Given the description of an element on the screen output the (x, y) to click on. 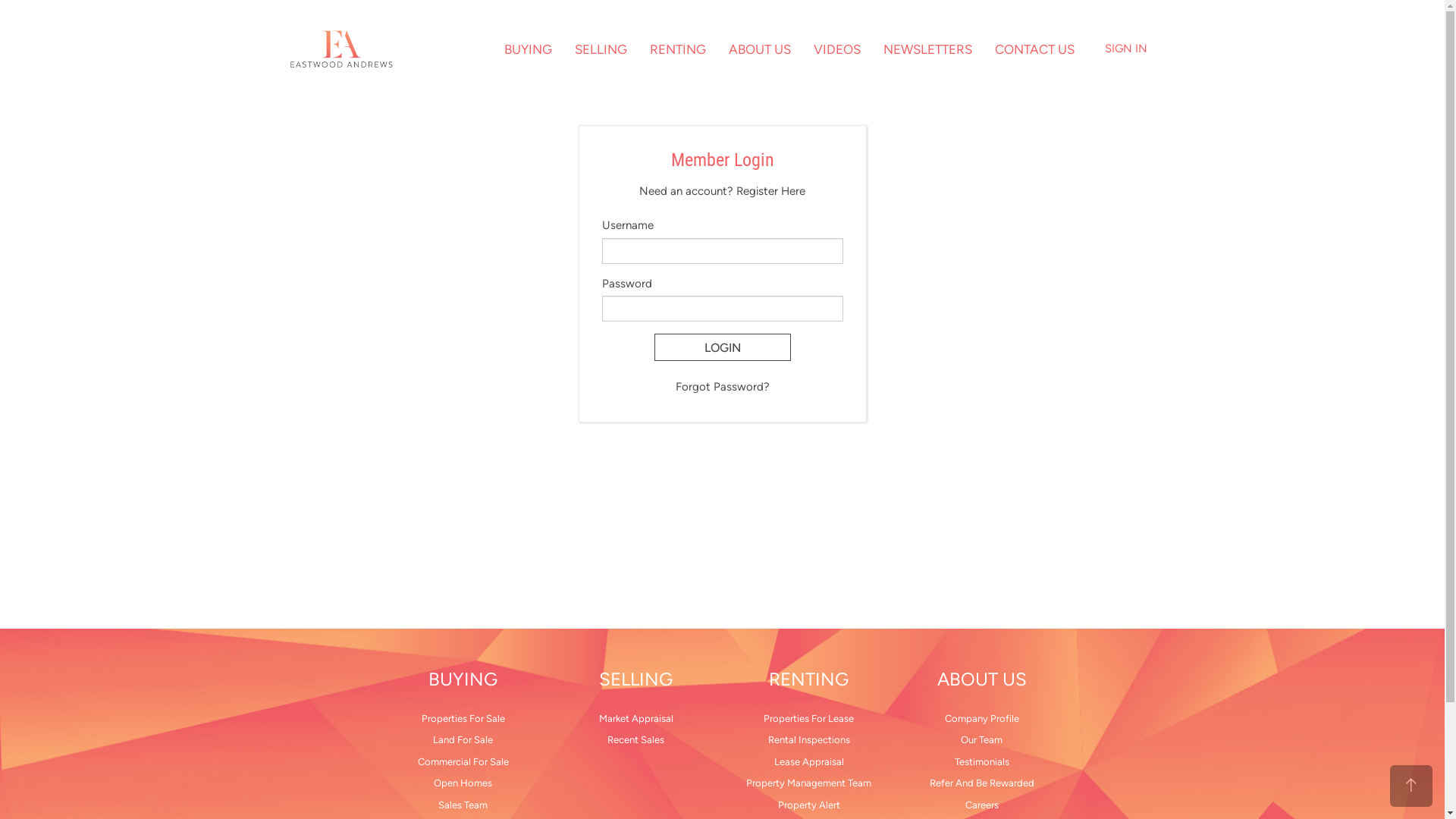
BUYING Element type: text (462, 679)
Refer And Be Rewarded Element type: text (980, 783)
SELLING Element type: text (599, 49)
Properties For Lease Element type: text (807, 719)
Recent Sales Element type: text (635, 740)
ABOUT US Element type: text (759, 49)
Our Team Element type: text (980, 740)
Company Profile Element type: text (980, 719)
ABOUT US Element type: text (980, 679)
SELLING Element type: text (635, 679)
BUYING Element type: text (527, 49)
RENTING Element type: text (677, 49)
Lease Appraisal Element type: text (807, 762)
LOGIN Element type: text (721, 346)
Commercial For Sale Element type: text (462, 762)
SIGN IN Element type: text (1125, 48)
Register Here Element type: text (770, 190)
Properties For Sale Element type: text (462, 719)
Market Appraisal Element type: text (635, 719)
RENTING Element type: text (807, 679)
NEWSLETTERS Element type: text (927, 49)
Testimonials Element type: text (980, 762)
VIDEOS Element type: text (837, 49)
Property Management Team Element type: text (807, 783)
CONTACT US Element type: text (1033, 49)
Open Homes Element type: text (462, 783)
Property Alert Element type: text (807, 805)
Careers Element type: text (980, 805)
Rental Inspections Element type: text (807, 740)
Sales Team Element type: text (462, 805)
Forgot Password? Element type: text (721, 386)
Land For Sale Element type: text (462, 740)
